Given the description of an element on the screen output the (x, y) to click on. 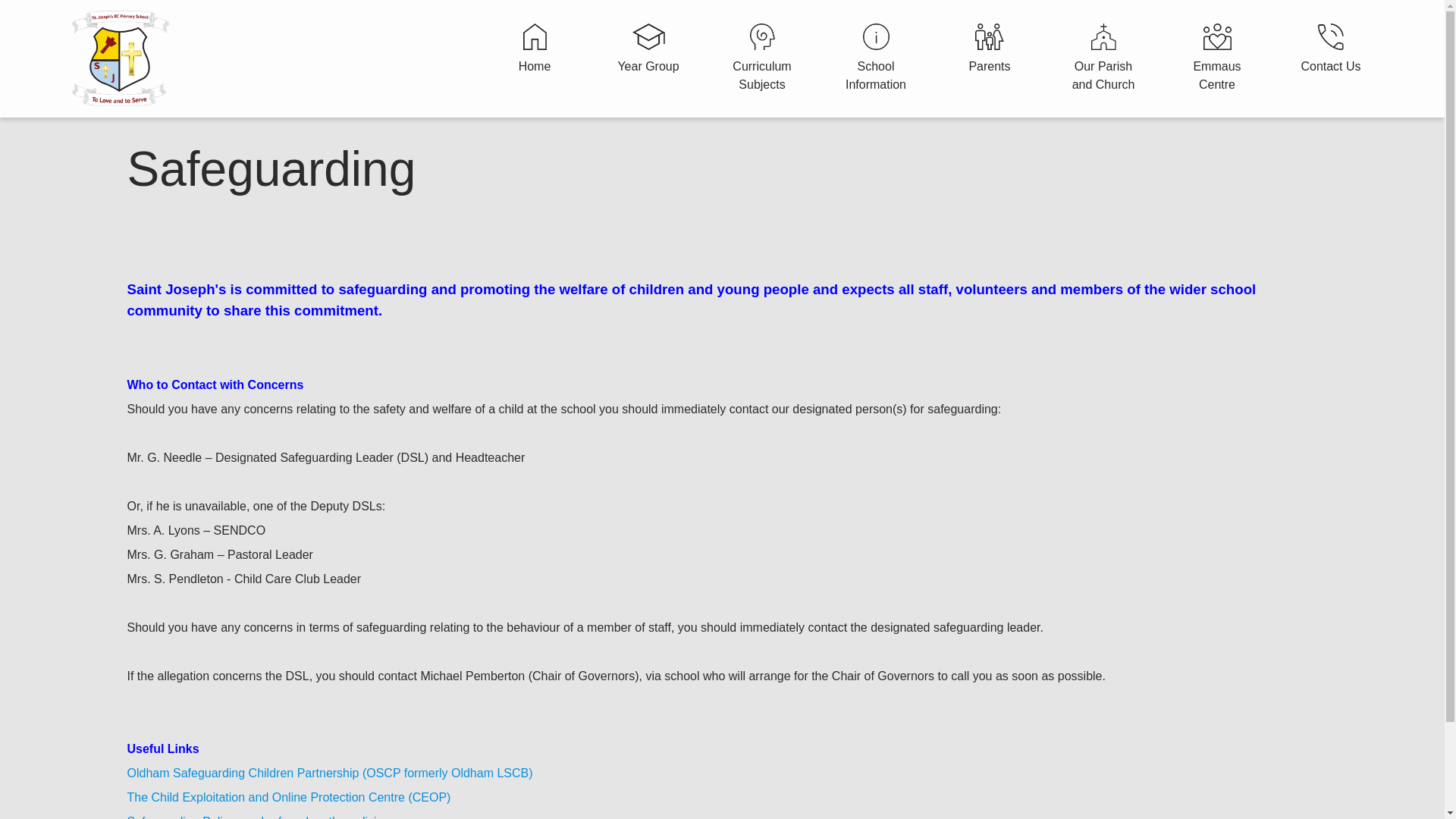
Contact Us (1330, 49)
Year Group (647, 49)
Curriculum Subjects (761, 58)
Parents (989, 49)
Our Parish and Church (1103, 58)
School Information (875, 58)
Emmaus Centre (1217, 58)
Safeguarding Policy can be found on the policies page (274, 816)
Home (534, 49)
SAINT JOSEPH'S RC - JUNIOR, INFANT AND NURSERY SCHOOL (120, 58)
